Given the description of an element on the screen output the (x, y) to click on. 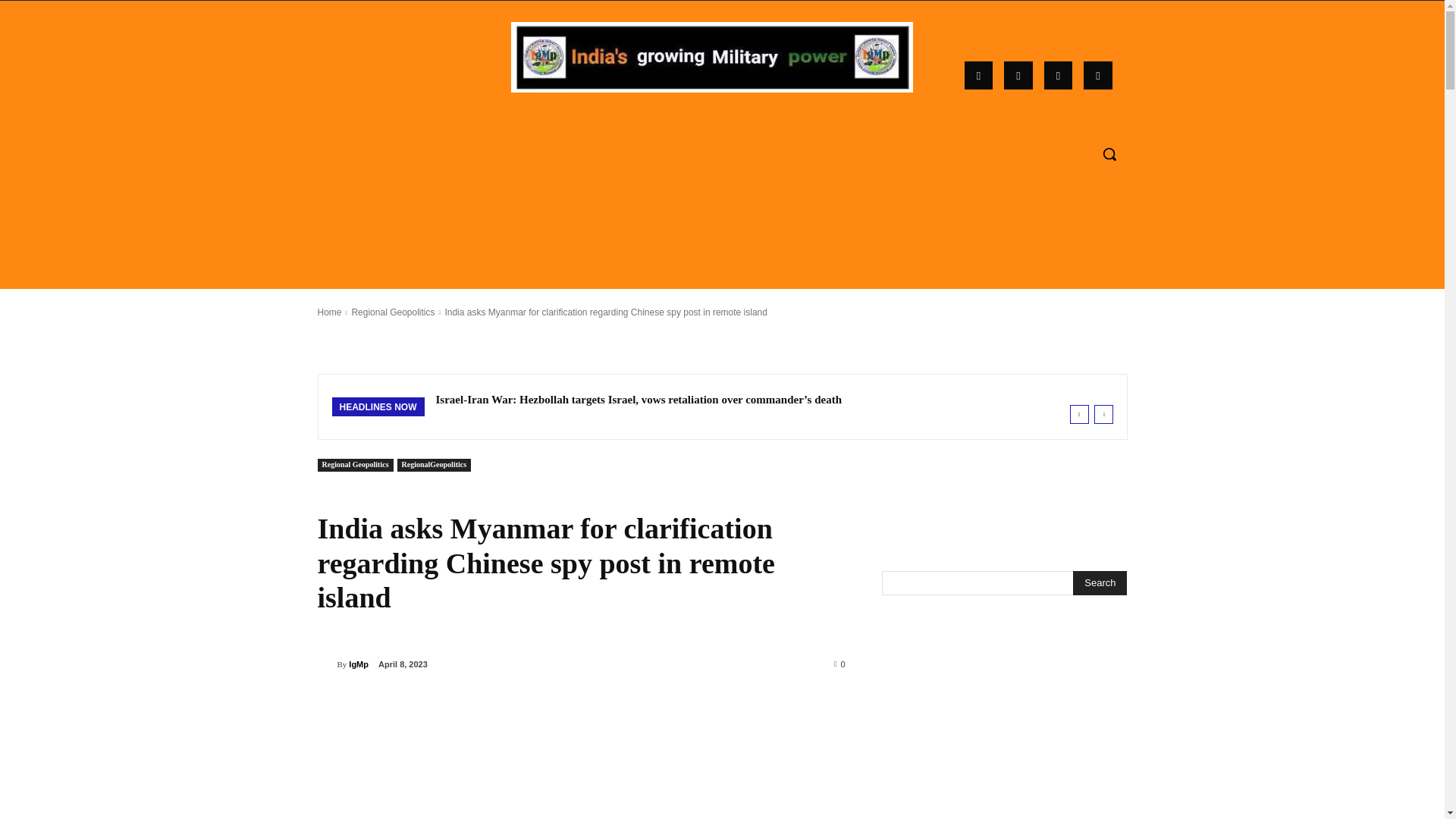
Twitter (1097, 75)
Instagram (1018, 75)
Facebook (977, 75)
Koo (1058, 75)
